Given the description of an element on the screen output the (x, y) to click on. 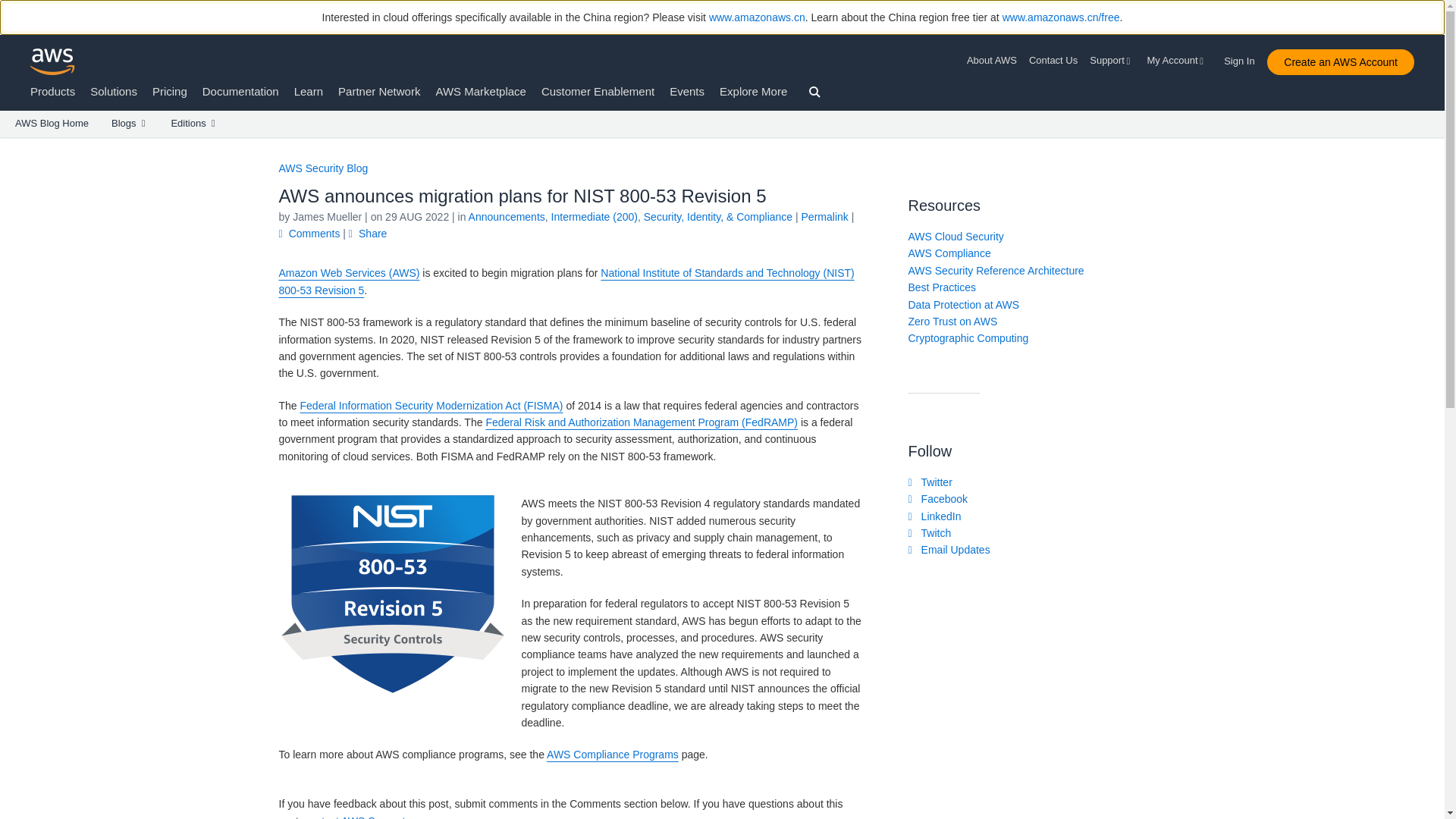
Partner Network (378, 91)
Customer Enablement (597, 91)
My Account  (1177, 60)
Skip to Main Content (7, 143)
Events (686, 91)
Products (52, 91)
Support  (1111, 60)
Documentation (240, 91)
Contact Us (1053, 60)
www.amazonaws.cn (757, 17)
Pricing (169, 91)
Solutions (113, 91)
Sign In (1243, 58)
Click here to return to Amazon Web Services homepage (52, 61)
Create an AWS Account (1339, 62)
